Given the description of an element on the screen output the (x, y) to click on. 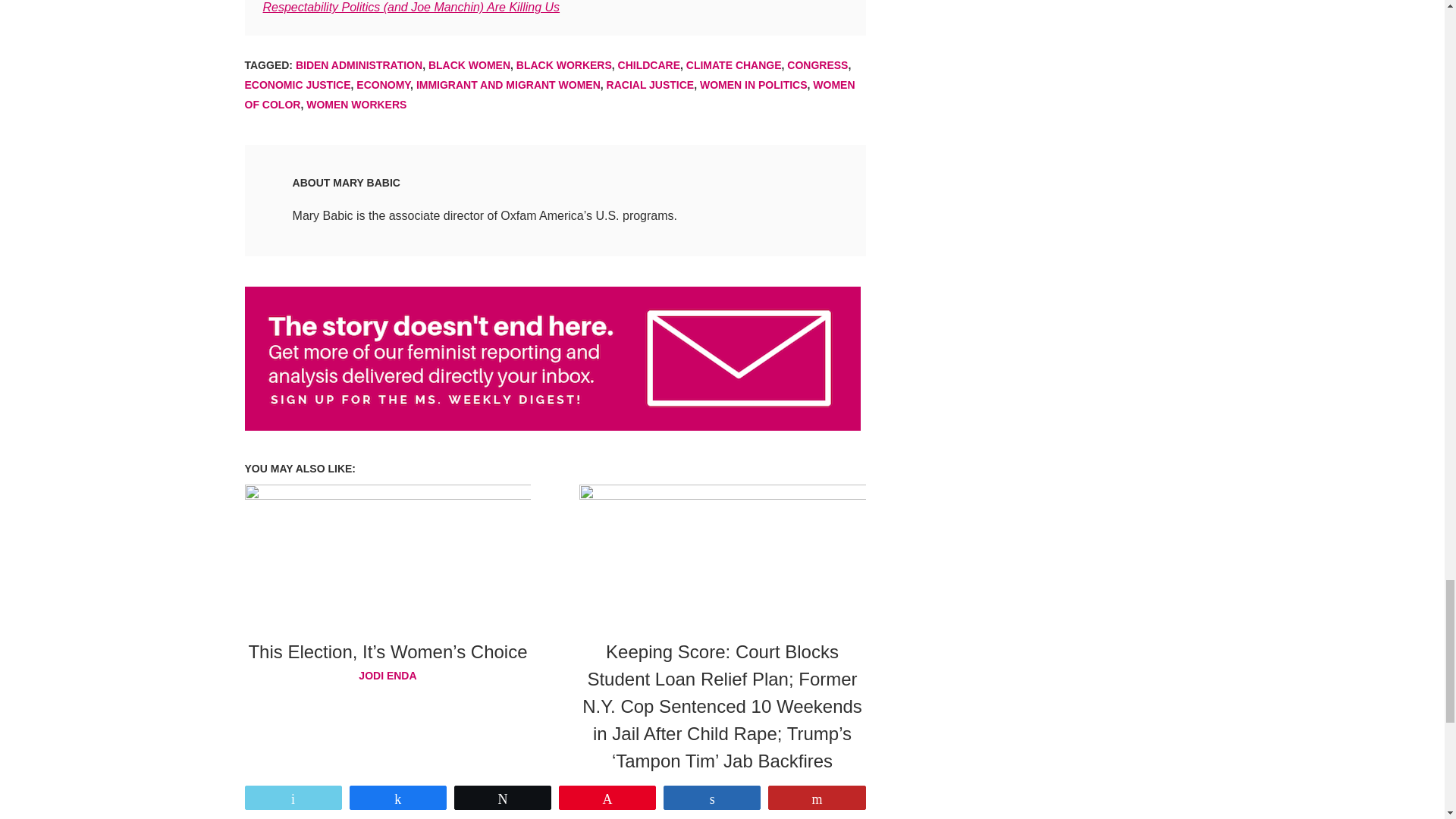
Posts by Katie Fleischer (722, 784)
Posts by Jodi Enda (387, 675)
Posts by Mary Babic (366, 182)
